Given the description of an element on the screen output the (x, y) to click on. 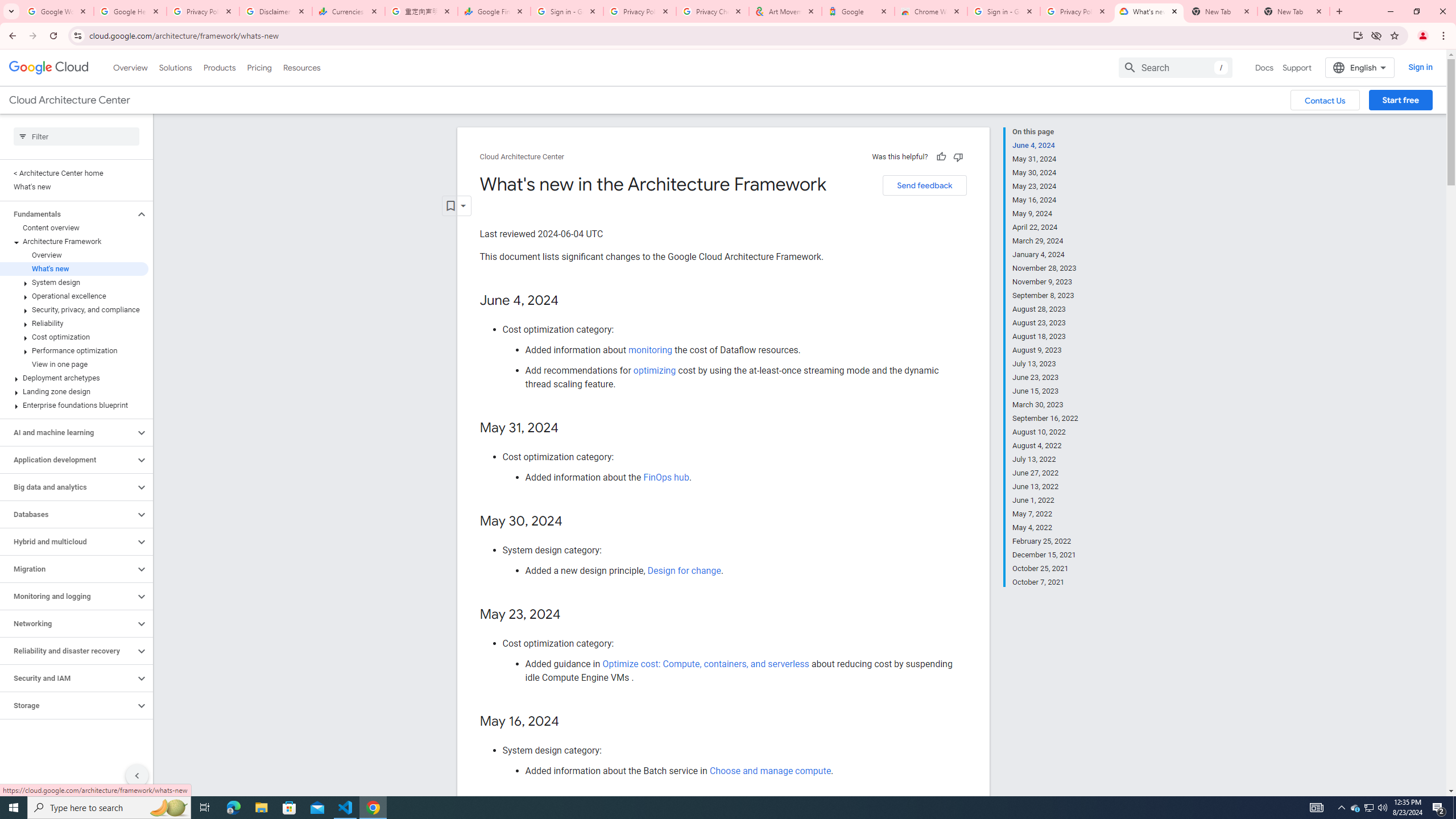
FinOps hub (665, 477)
Google (857, 11)
Chrome Web Store - Color themes by Chrome (930, 11)
AI and machine learning (67, 432)
August 10, 2022 (1044, 431)
June 4, 2024 (1044, 145)
Google Cloud (48, 67)
March 29, 2024 (1044, 241)
August 4, 2022 (1044, 445)
Content overview (74, 228)
Copy link to this section: May 23, 2024 (571, 614)
June 27, 2022 (1044, 472)
June 13, 2022 (1044, 486)
